Given the description of an element on the screen output the (x, y) to click on. 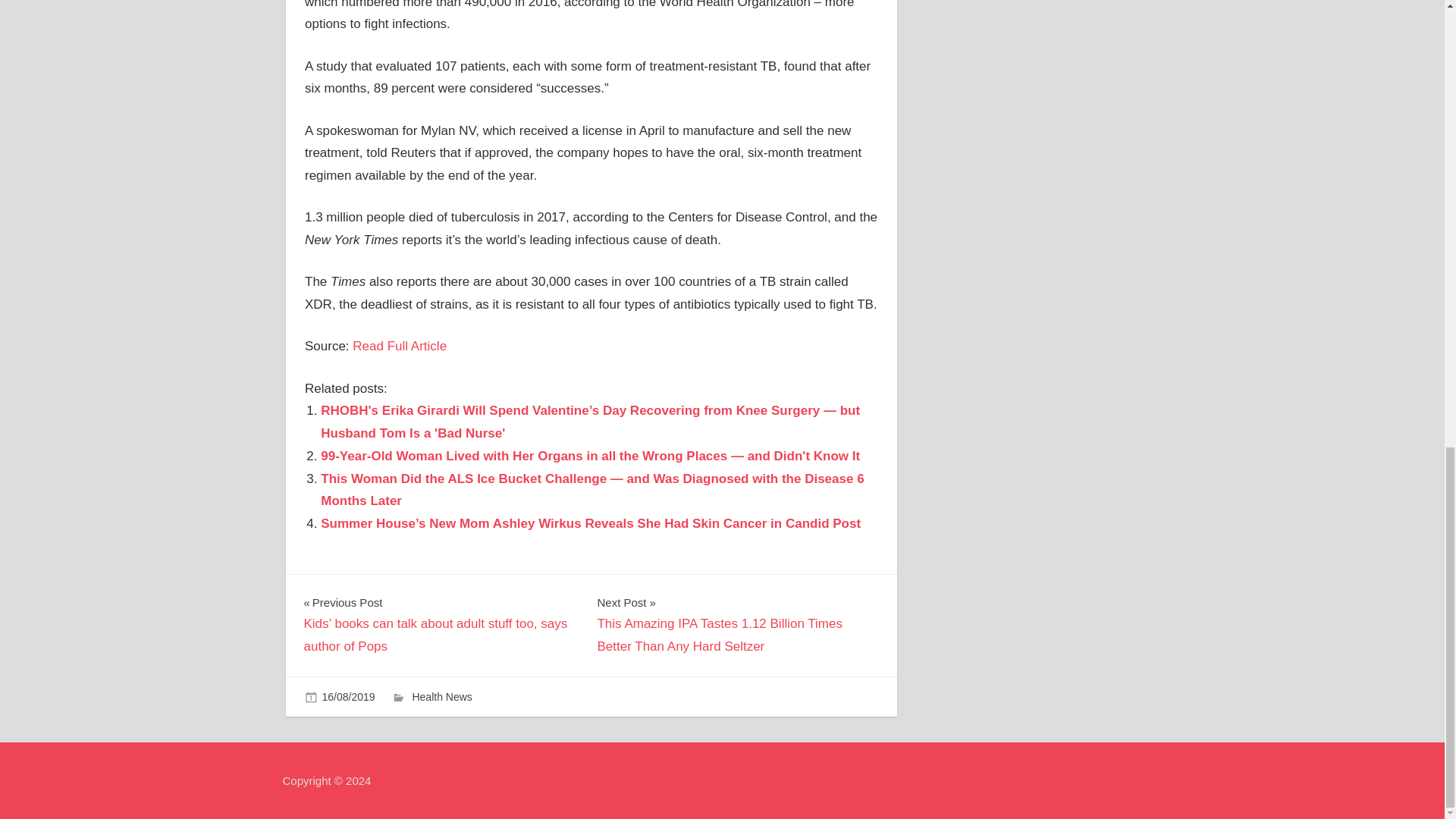
Health News (441, 696)
3:37 pm (347, 696)
Read Full Article (399, 345)
